Given the description of an element on the screen output the (x, y) to click on. 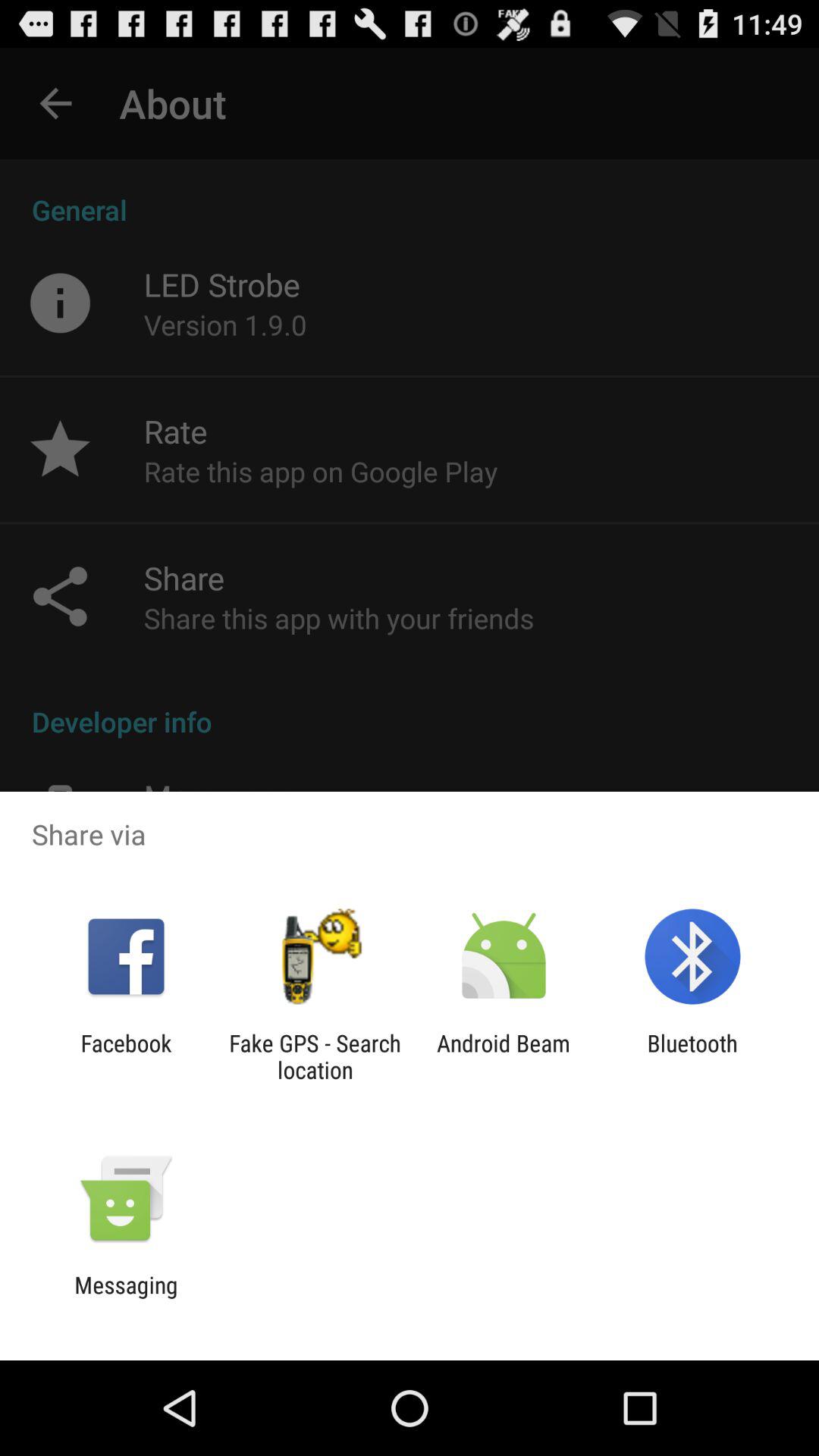
launch facebook item (125, 1056)
